Given the description of an element on the screen output the (x, y) to click on. 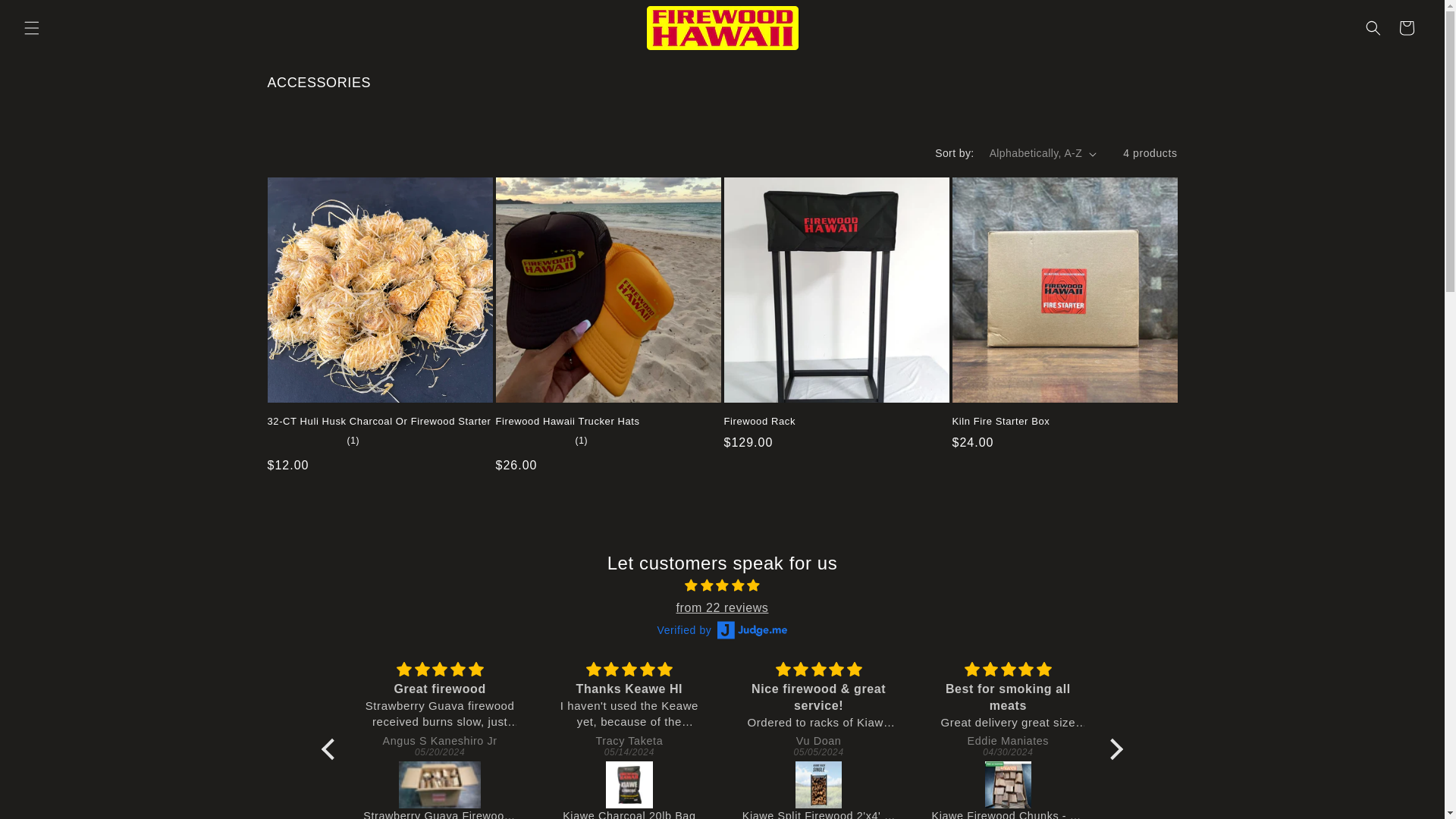
32-CT Huli Husk Charcoal Or Firewood Starter (379, 421)
Firewood Hawaii Trucker Hats (608, 421)
Cart (1406, 27)
Firewood Rack (836, 421)
Kiln Fire Starter Box (1064, 421)
Skip to content (46, 18)
